Given the description of an element on the screen output the (x, y) to click on. 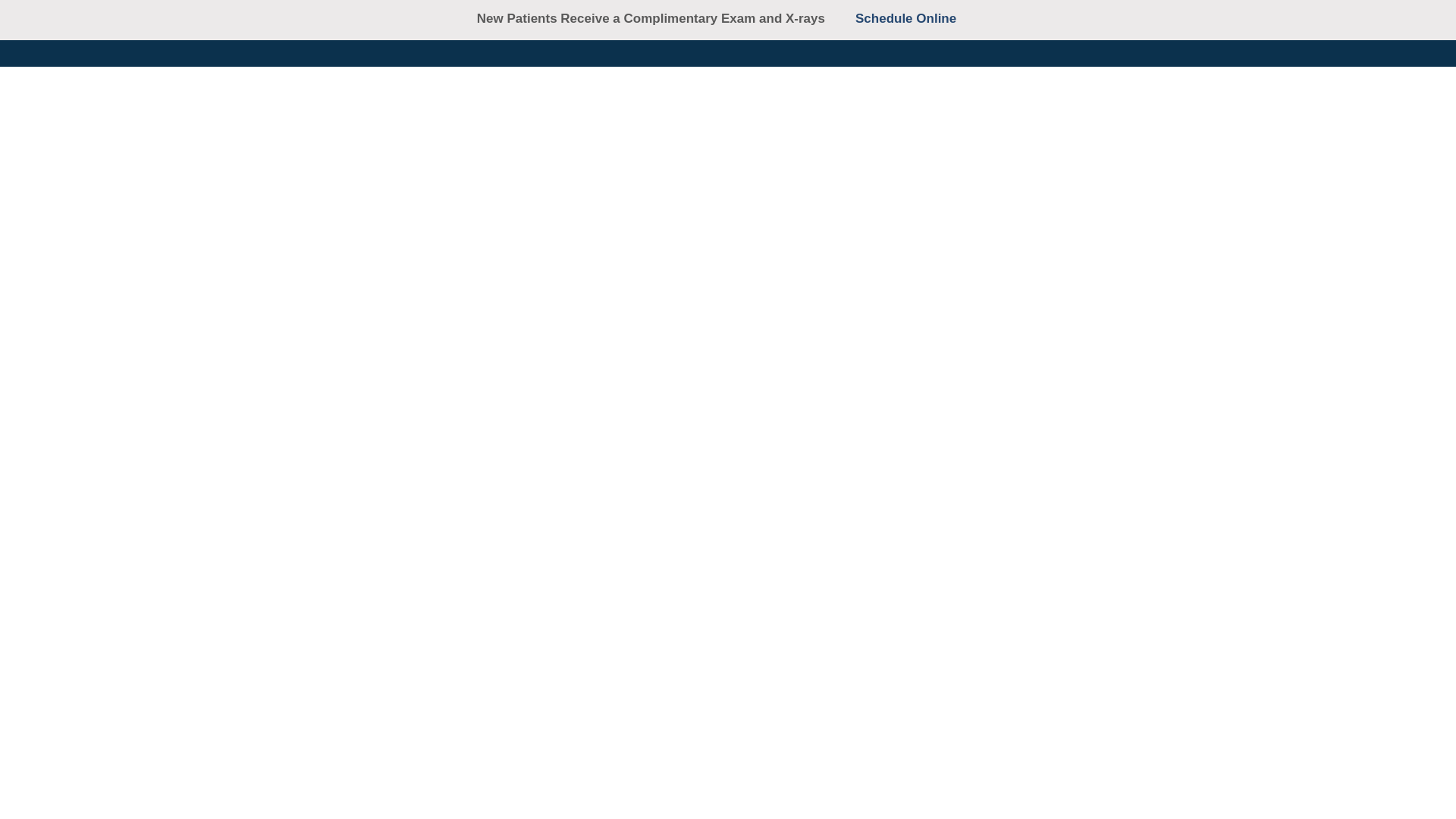
Get a Free Second Opinion (657, 33)
Schedule Online (826, 33)
New Patients Receive a Complimentary Exam and X-rays (658, 18)
Schedule Online (917, 18)
